Given the description of an element on the screen output the (x, y) to click on. 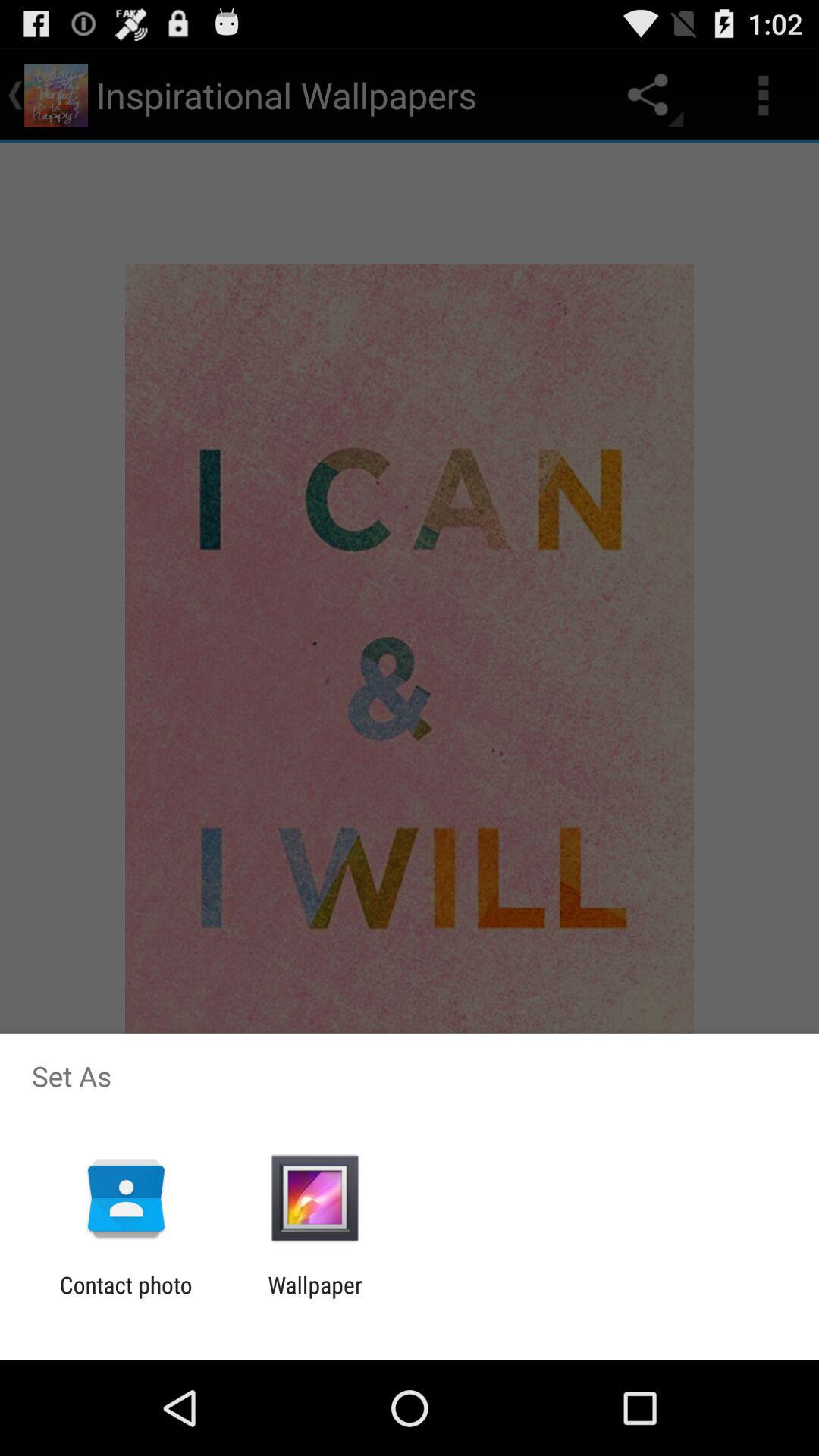
open app to the left of the wallpaper (125, 1298)
